Given the description of an element on the screen output the (x, y) to click on. 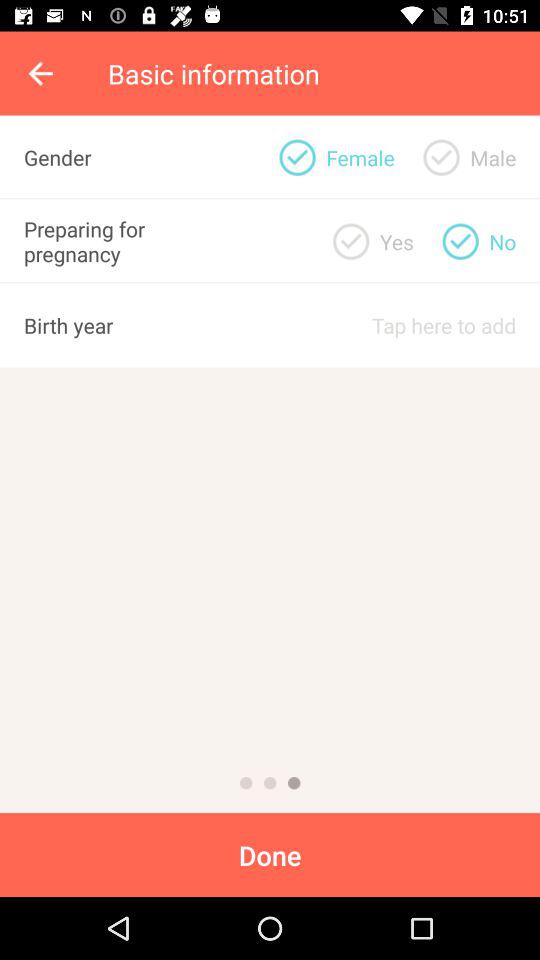
no (460, 241)
